Given the description of an element on the screen output the (x, y) to click on. 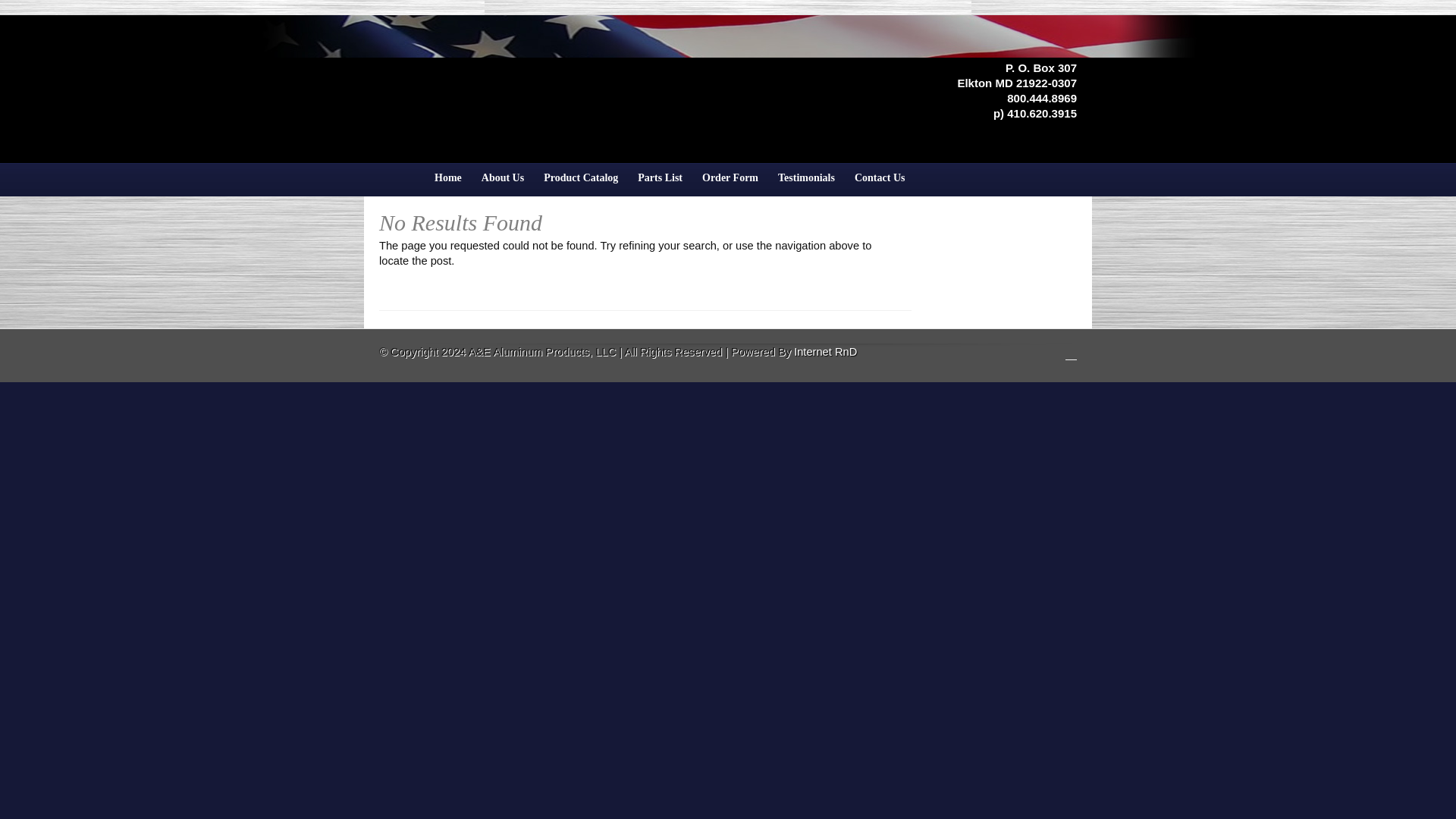
Product Catalog (580, 183)
Parts List (660, 183)
Order Form (730, 183)
Testimonials (806, 183)
About Us (502, 183)
Contact Us (879, 183)
Home (448, 183)
Internet RnD (825, 351)
